Given the description of an element on the screen output the (x, y) to click on. 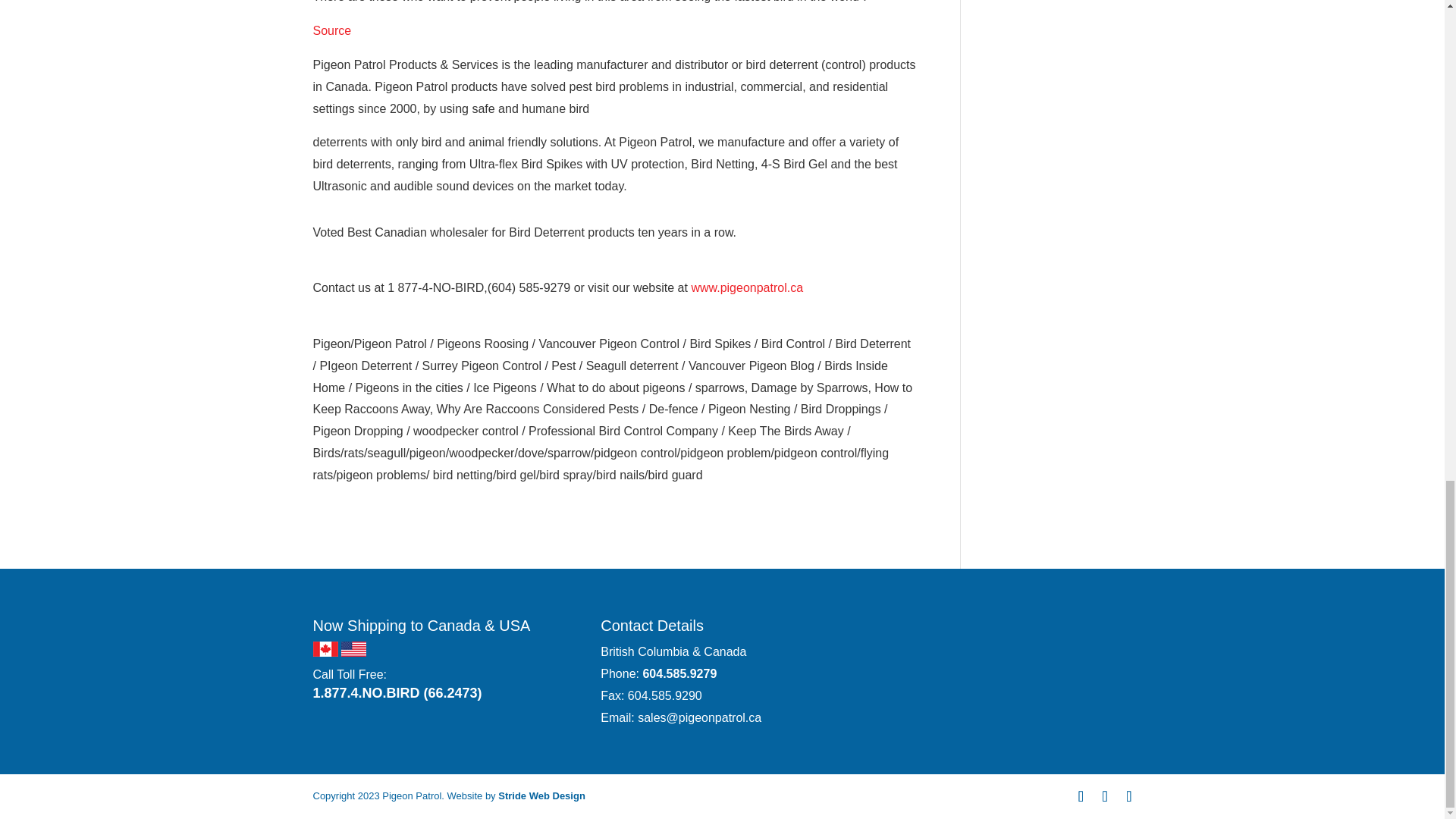
Source (331, 30)
www.pigeonpatrol.ca (746, 287)
